Given the description of an element on the screen output the (x, y) to click on. 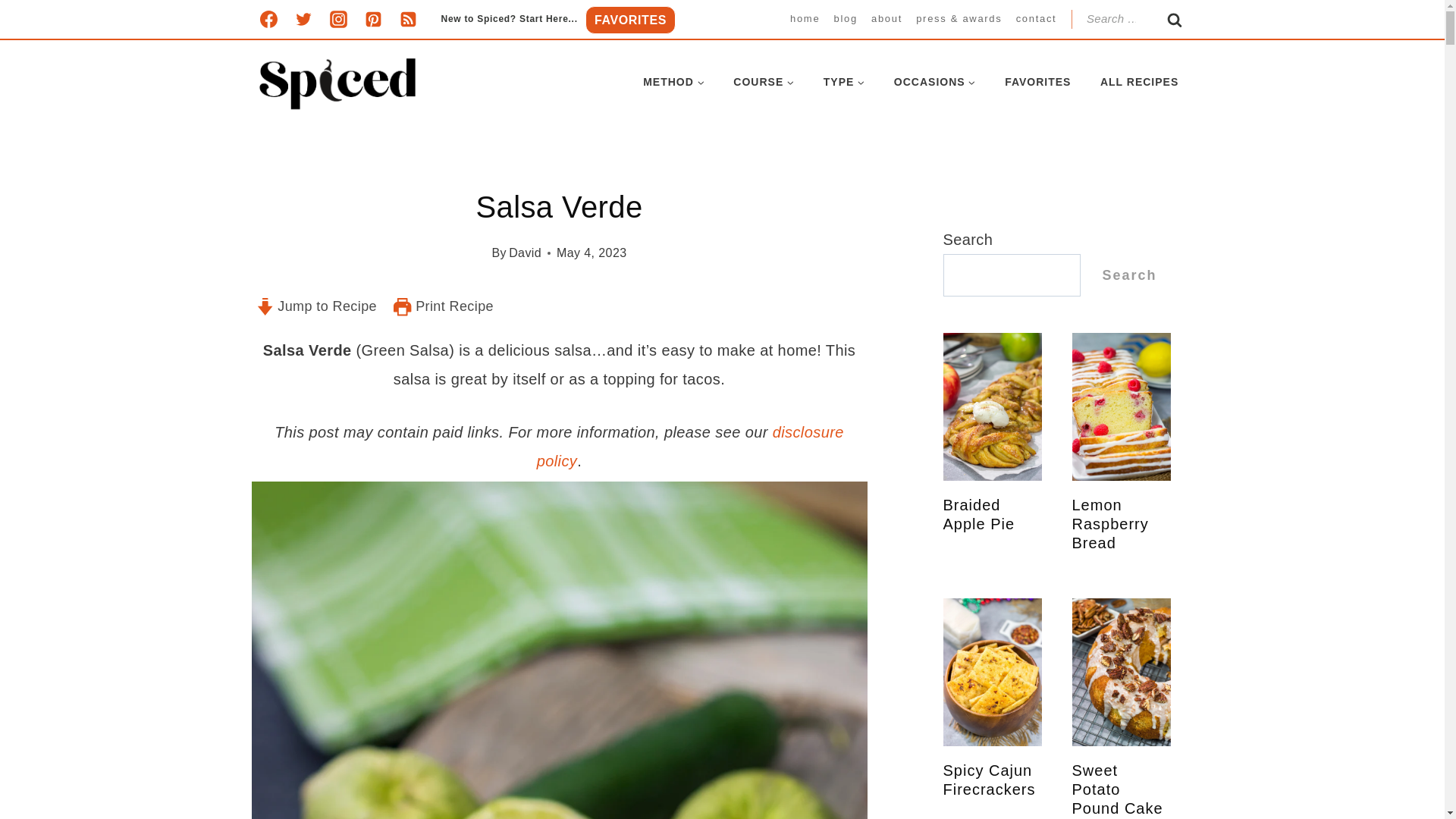
Search (1174, 24)
contact (1036, 19)
Search (1174, 24)
about (886, 19)
Jump to Recipe Print Recipe (559, 308)
Search (1174, 24)
Jump to Recipe (316, 306)
COURSE (763, 82)
FAVORITES (631, 19)
home (805, 19)
